Given the description of an element on the screen output the (x, y) to click on. 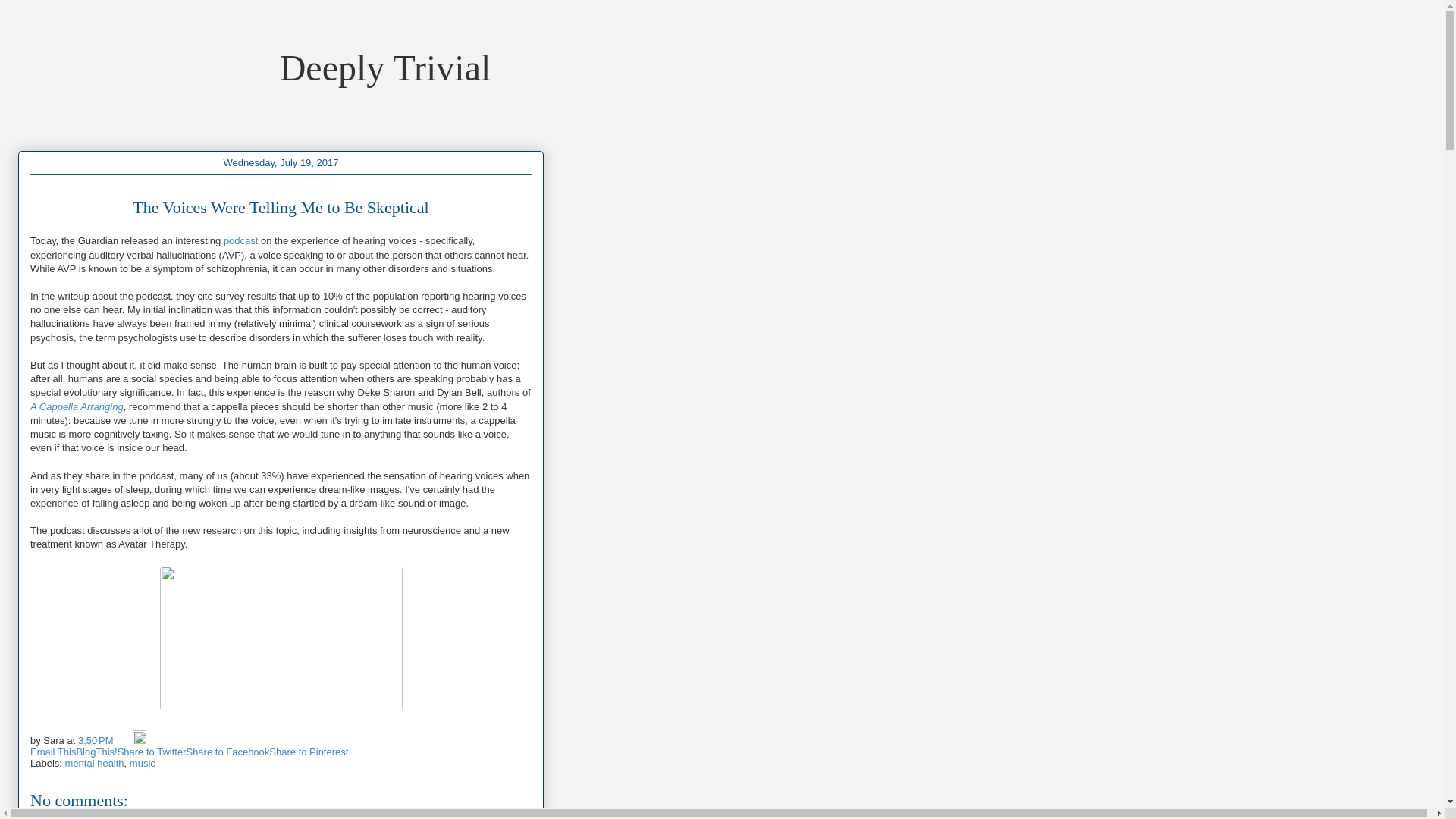
Share to Pinterest (308, 751)
music (142, 762)
mental health (94, 762)
A Cappella Arranging (76, 406)
podcast (241, 240)
Edit Post (139, 739)
Share to Facebook (227, 751)
Email This (52, 751)
Deeply Trivial (385, 67)
Share to Twitter (151, 751)
Email Post (124, 739)
Share to Facebook (227, 751)
permanent link (95, 739)
Share to Pinterest (308, 751)
